Given the description of an element on the screen output the (x, y) to click on. 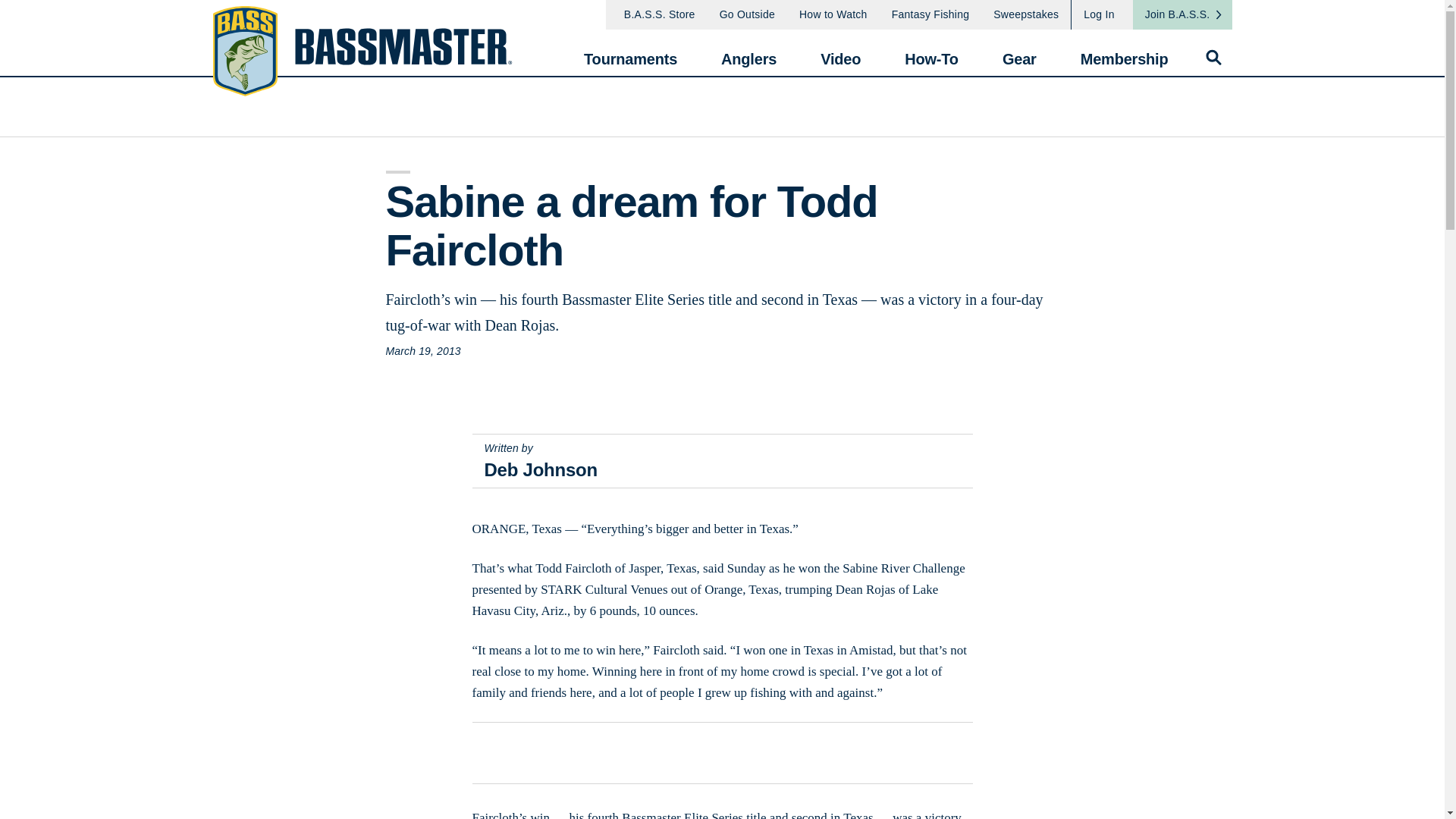
Anglers (748, 52)
How-To (931, 52)
Video (840, 52)
Tournaments (630, 52)
